Given the description of an element on the screen output the (x, y) to click on. 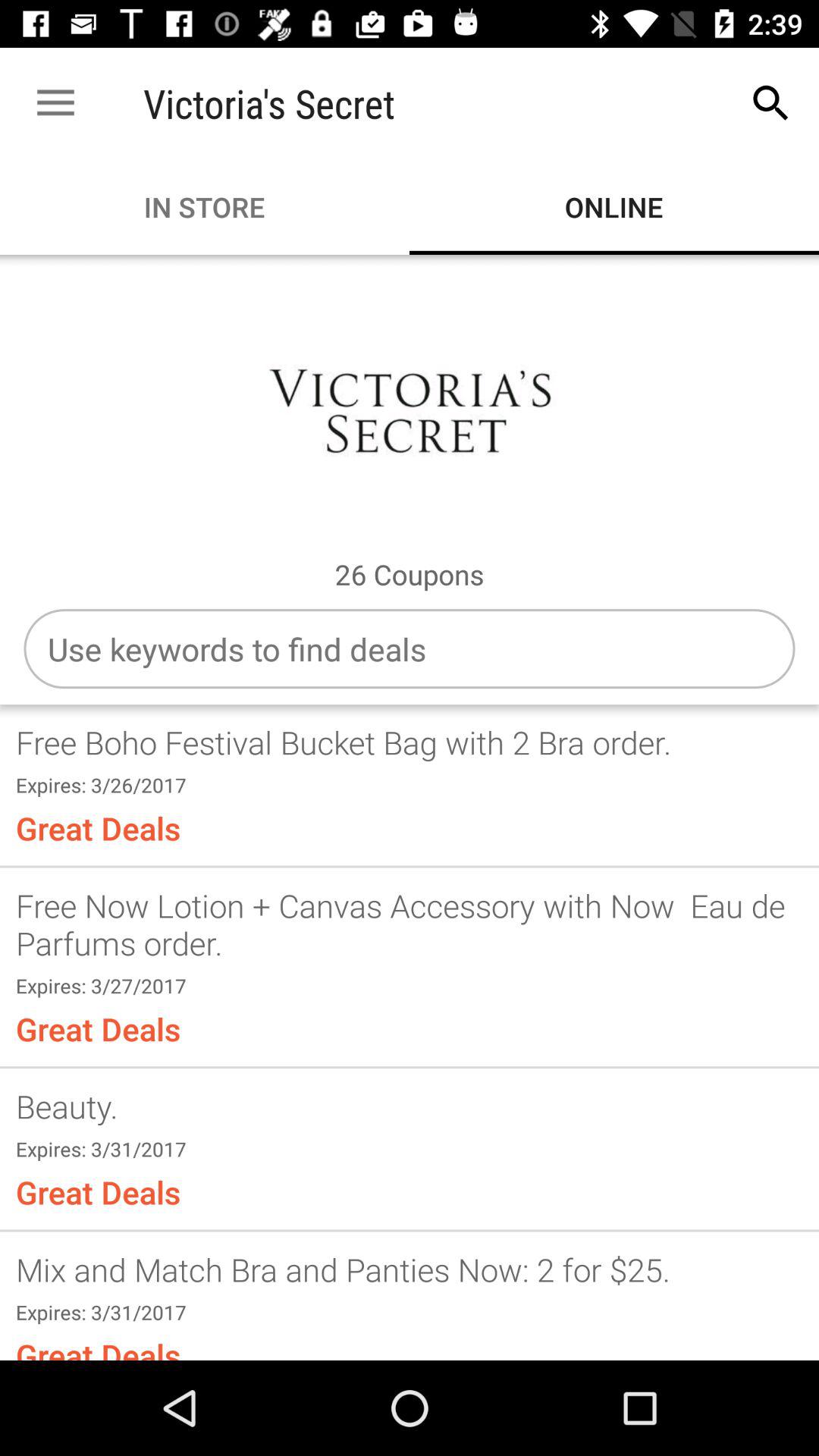
turn on the icon next to the victoria's secret  app (771, 103)
